Given the description of an element on the screen output the (x, y) to click on. 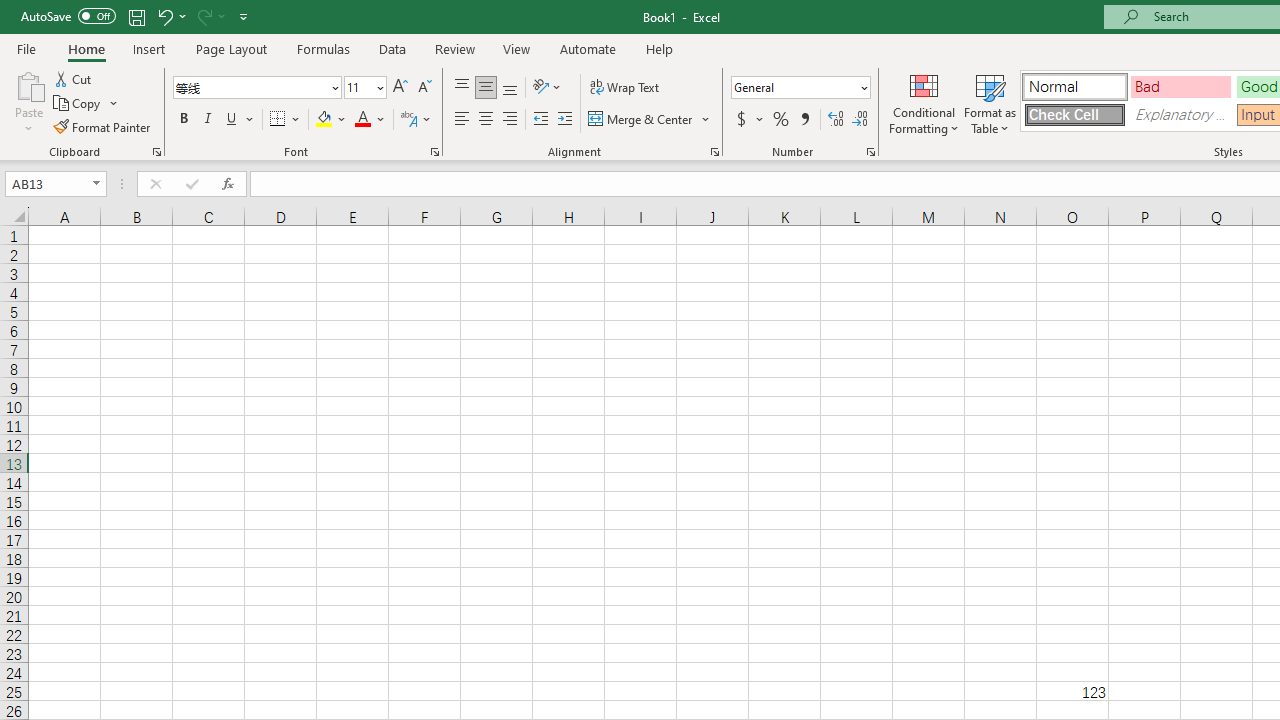
Center (485, 119)
Font Size (358, 87)
Insert (149, 48)
Home (86, 48)
Underline (232, 119)
Increase Font Size (399, 87)
Fill Color (331, 119)
Merge & Center (641, 119)
Open (96, 183)
Bold (183, 119)
Automate (588, 48)
